Given the description of an element on the screen output the (x, y) to click on. 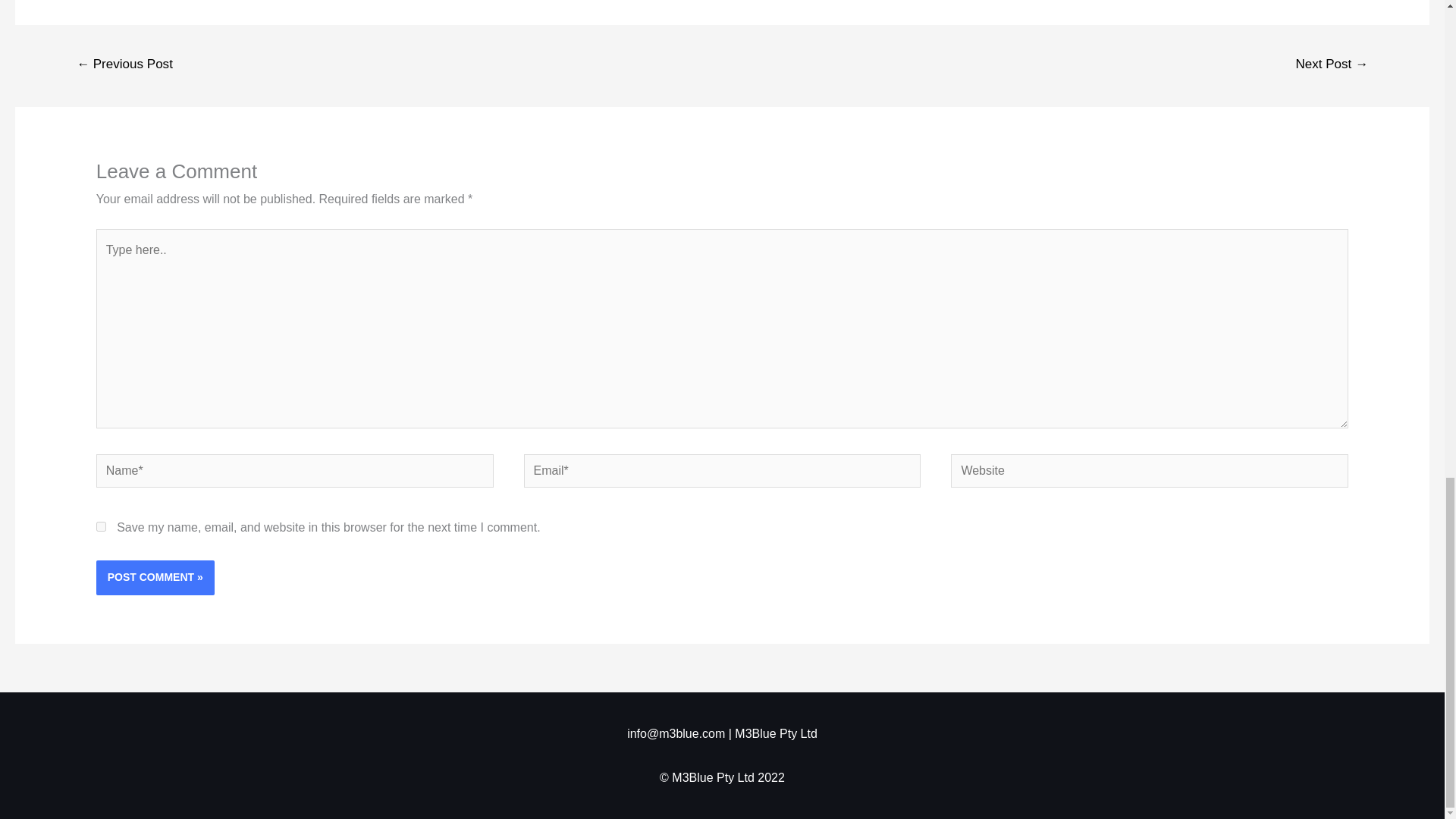
yes (101, 526)
